Given the description of an element on the screen output the (x, y) to click on. 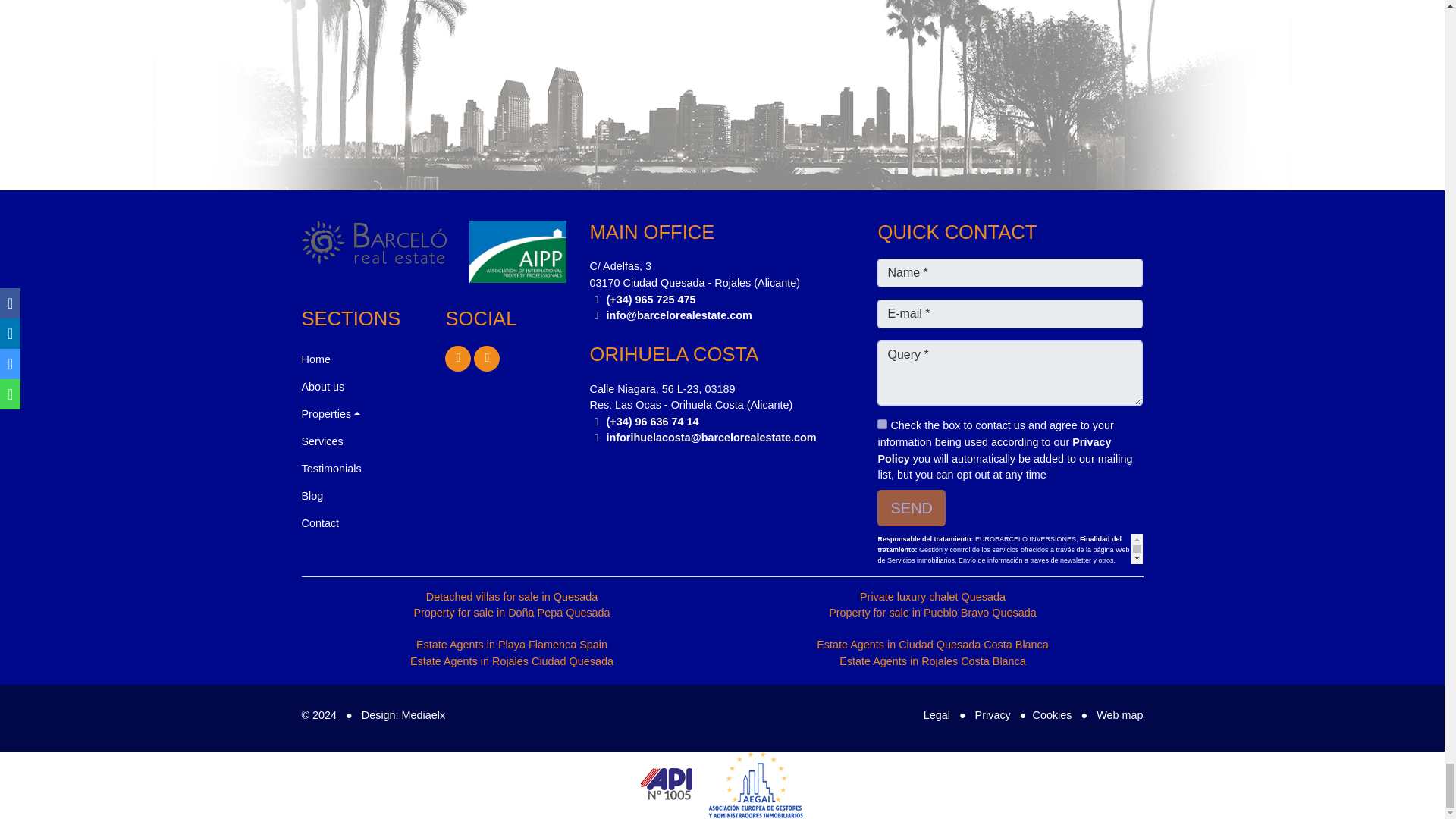
on (881, 424)
